Given the description of an element on the screen output the (x, y) to click on. 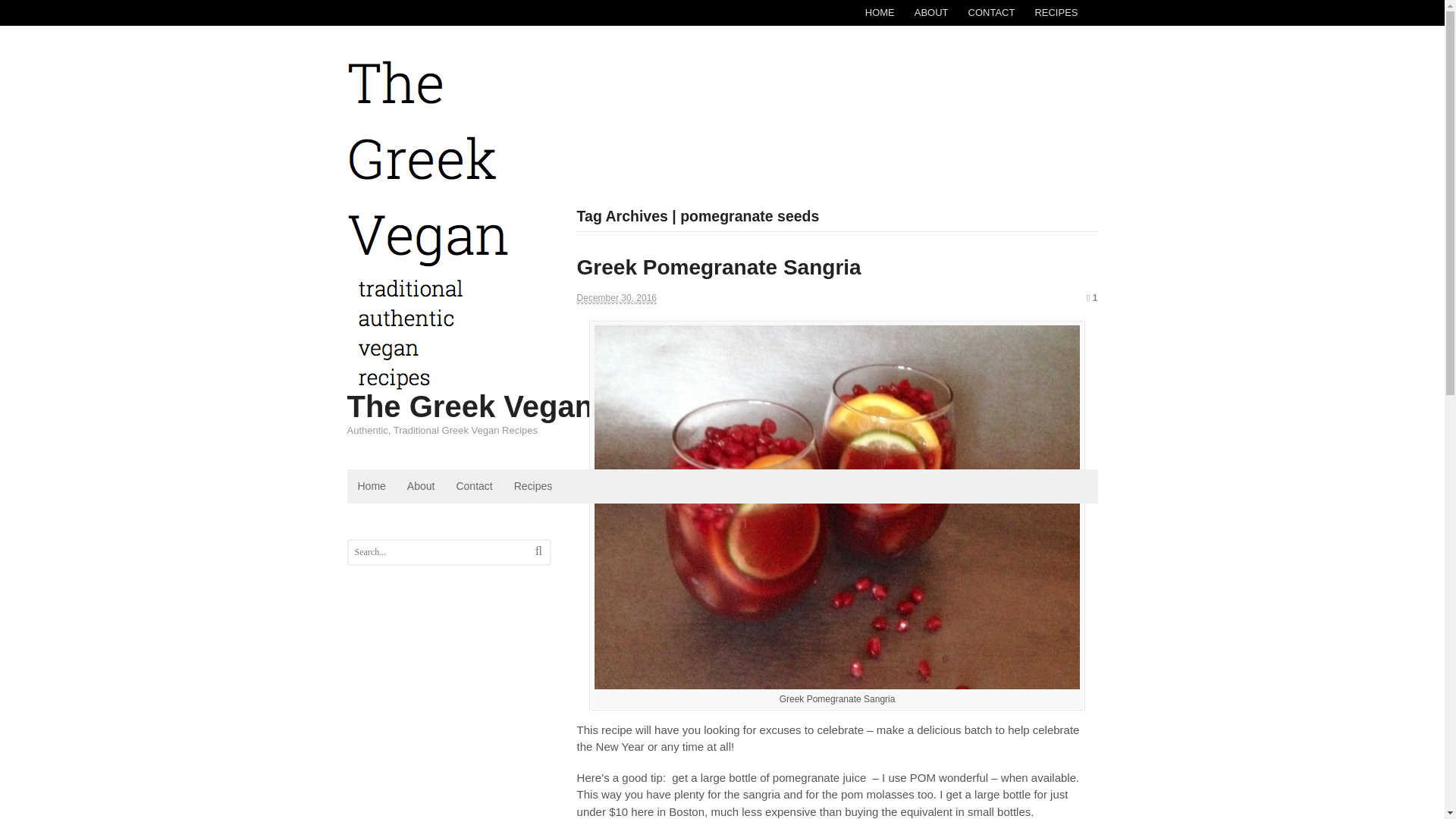
CONTACT (991, 12)
About (420, 486)
Search... (440, 552)
Greek Pomegranate Sangria (718, 267)
The Greek Vegan (470, 406)
Recipes (533, 486)
2016-12-30T17:22:52-0500 (616, 297)
1 (1091, 297)
ABOUT (931, 12)
RECIPES (1056, 12)
HOME (880, 12)
Home (371, 486)
Contact (473, 486)
Greek Pomegranate Sangria (718, 267)
Authentic, Traditional Greek Vegan Recipes (427, 383)
